Given the description of an element on the screen output the (x, y) to click on. 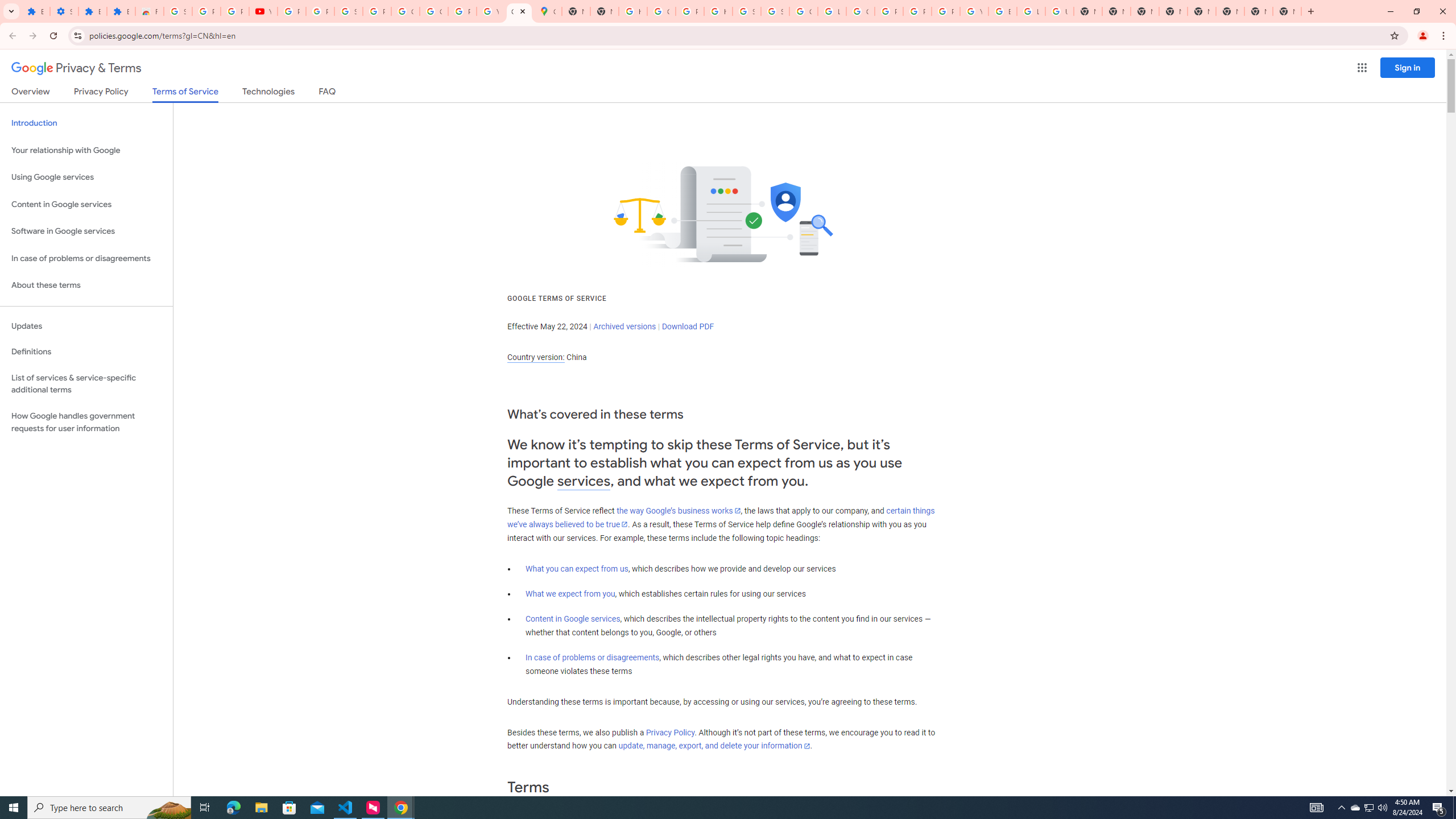
Extensions (120, 11)
New Tab (1287, 11)
Privacy Help Center - Policies Help (888, 11)
YouTube (973, 11)
Google Account (405, 11)
